Given the description of an element on the screen output the (x, y) to click on. 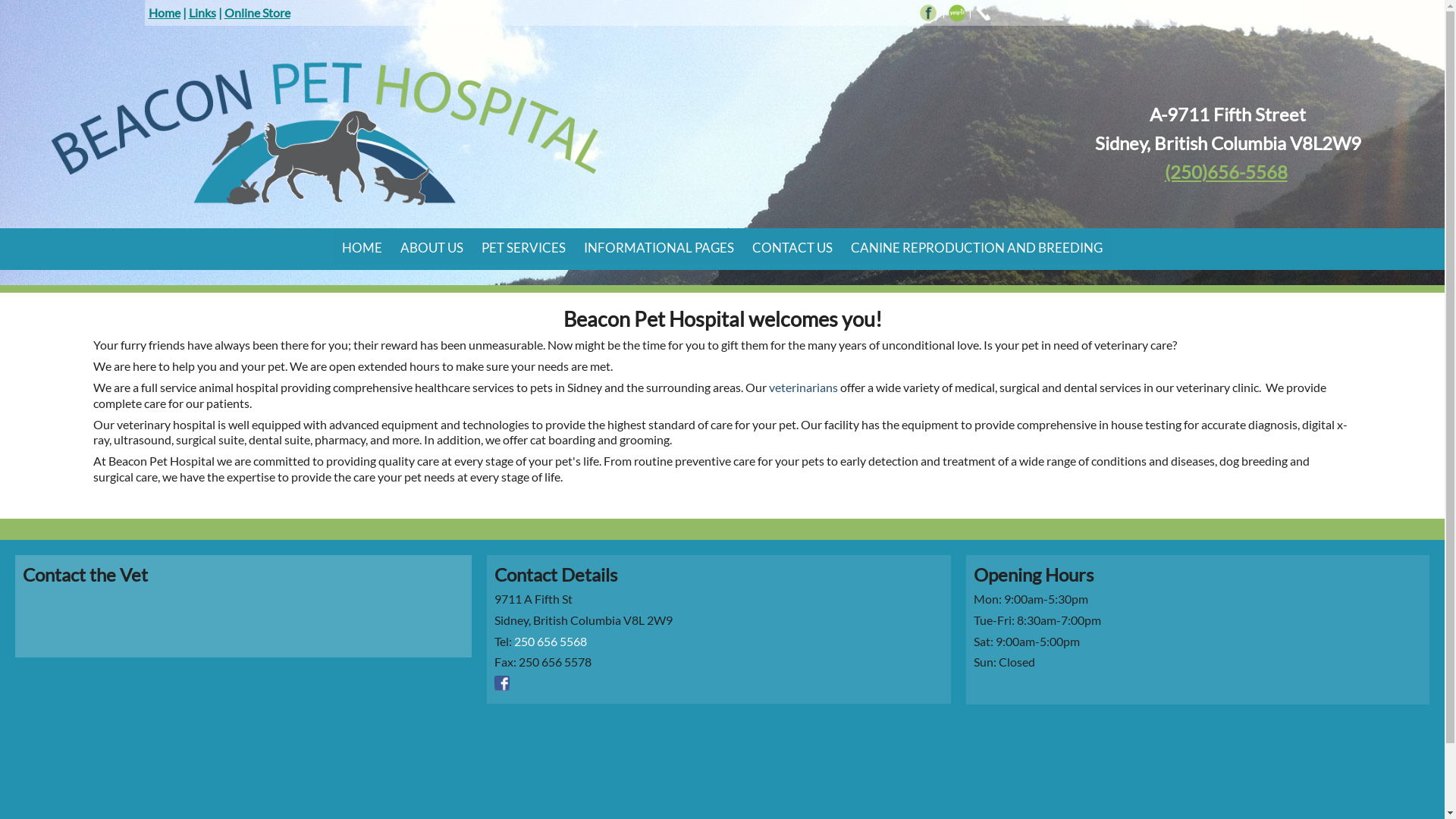
phone icon Element type: hover (982, 12)
(250)656-5568 Element type: text (1225, 171)
Links Element type: text (201, 12)
yelp icon Element type: hover (956, 12)
find us on facebook Element type: hover (928, 10)
call us today! Element type: hover (982, 10)
follow us on facebook Element type: hover (501, 681)
CONTACT US Element type: text (792, 247)
HOME Element type: text (361, 247)
facebook icon Element type: hover (501, 682)
ABOUT US Element type: text (431, 247)
PET SERVICES Element type: text (523, 247)
veterinarians Element type: text (802, 386)
CANINE REPRODUCTION AND BREEDING Element type: text (976, 247)
250 656 5568 Element type: text (550, 640)
our reviews on yelp Element type: hover (956, 10)
facebook icon Element type: hover (928, 12)
Beacon Pet Hospital Logo Element type: hover (324, 128)
INFORMATIONAL PAGES Element type: text (658, 247)
Home Element type: text (164, 12)
Online Store Element type: text (257, 12)
